Given the description of an element on the screen output the (x, y) to click on. 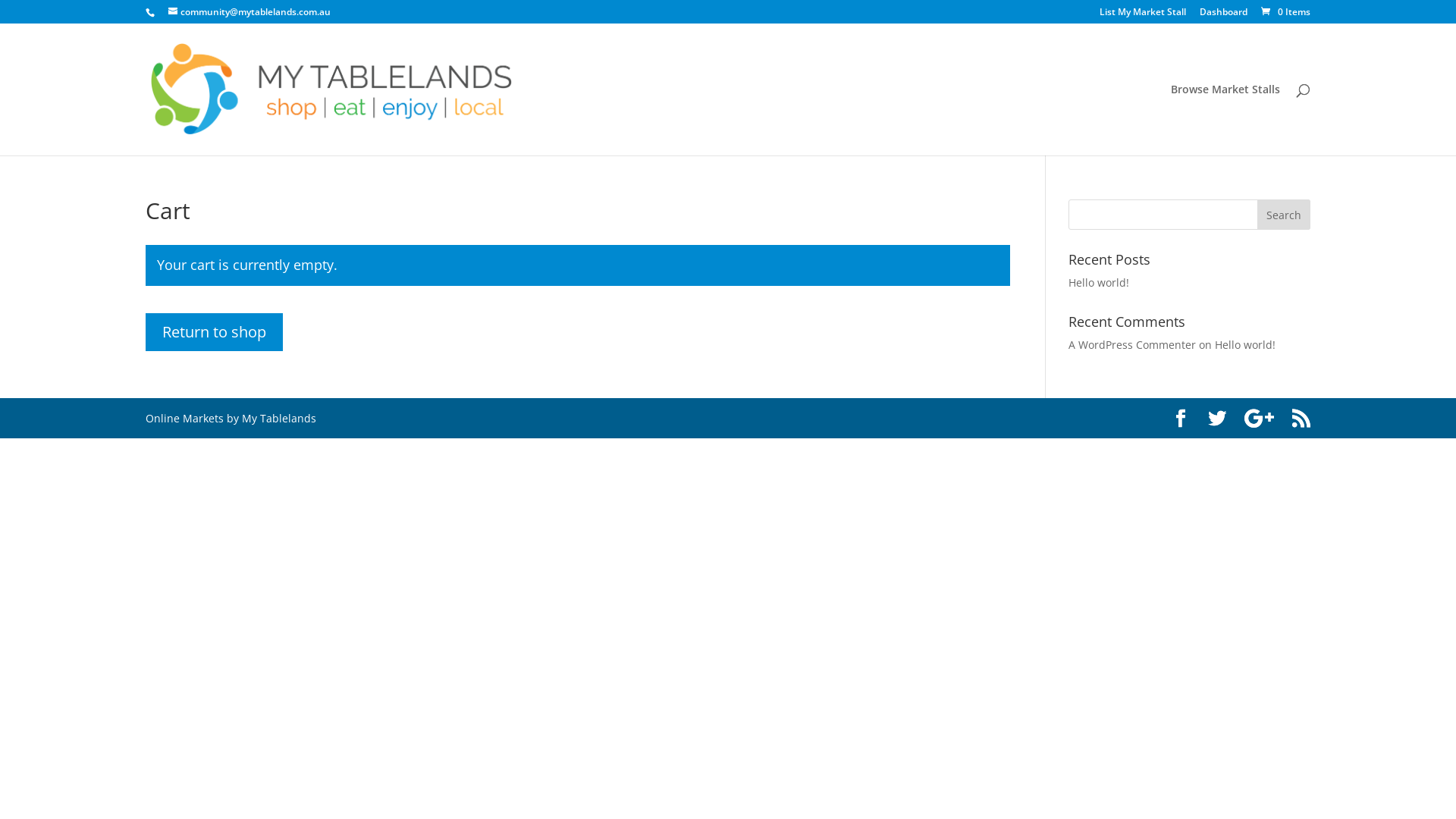
Hello world! Element type: text (1098, 282)
Dashboard Element type: text (1223, 15)
Hello world! Element type: text (1244, 344)
List My Market Stall Element type: text (1142, 15)
Return to shop Element type: text (213, 332)
0 Items Element type: text (1284, 11)
community@mytablelands.com.au Element type: text (249, 11)
Search Element type: text (1283, 214)
Browse Market Stalls Element type: text (1225, 119)
A WordPress Commenter Element type: text (1131, 344)
